Given the description of an element on the screen output the (x, y) to click on. 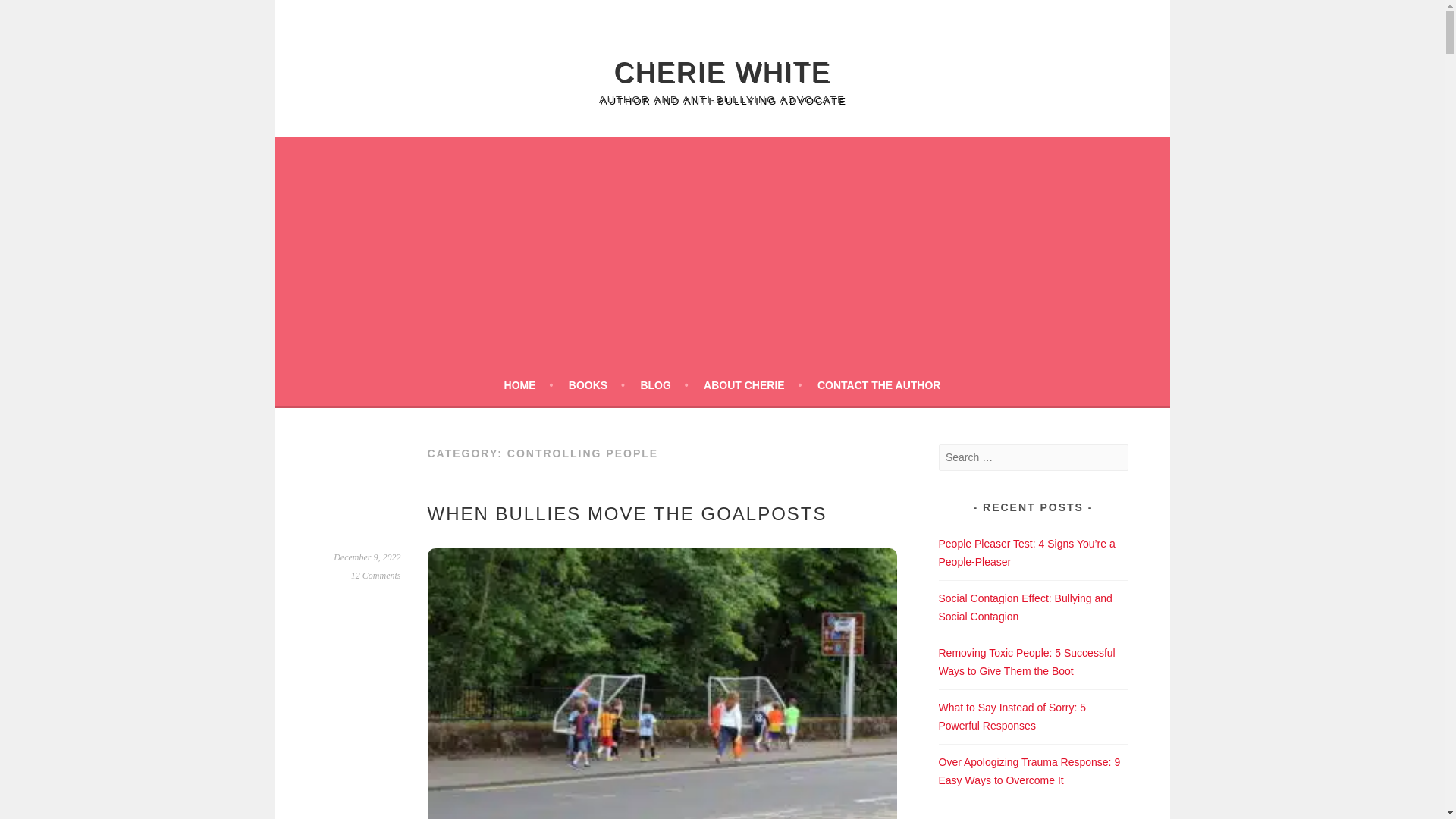
Search (30, 13)
CHERIE WHITE (720, 71)
12 Comments (375, 575)
CONTACT THE AUTHOR (878, 384)
December 9, 2022 (366, 557)
BOOKS (596, 384)
What to Say Instead of Sorry: 5 Powerful Responses (1012, 716)
WHEN BULLIES MOVE THE GOALPOSTS (627, 513)
Permalink to When Bullies Move the Goalposts (366, 557)
ABOUT CHERIE (752, 384)
